Given the description of an element on the screen output the (x, y) to click on. 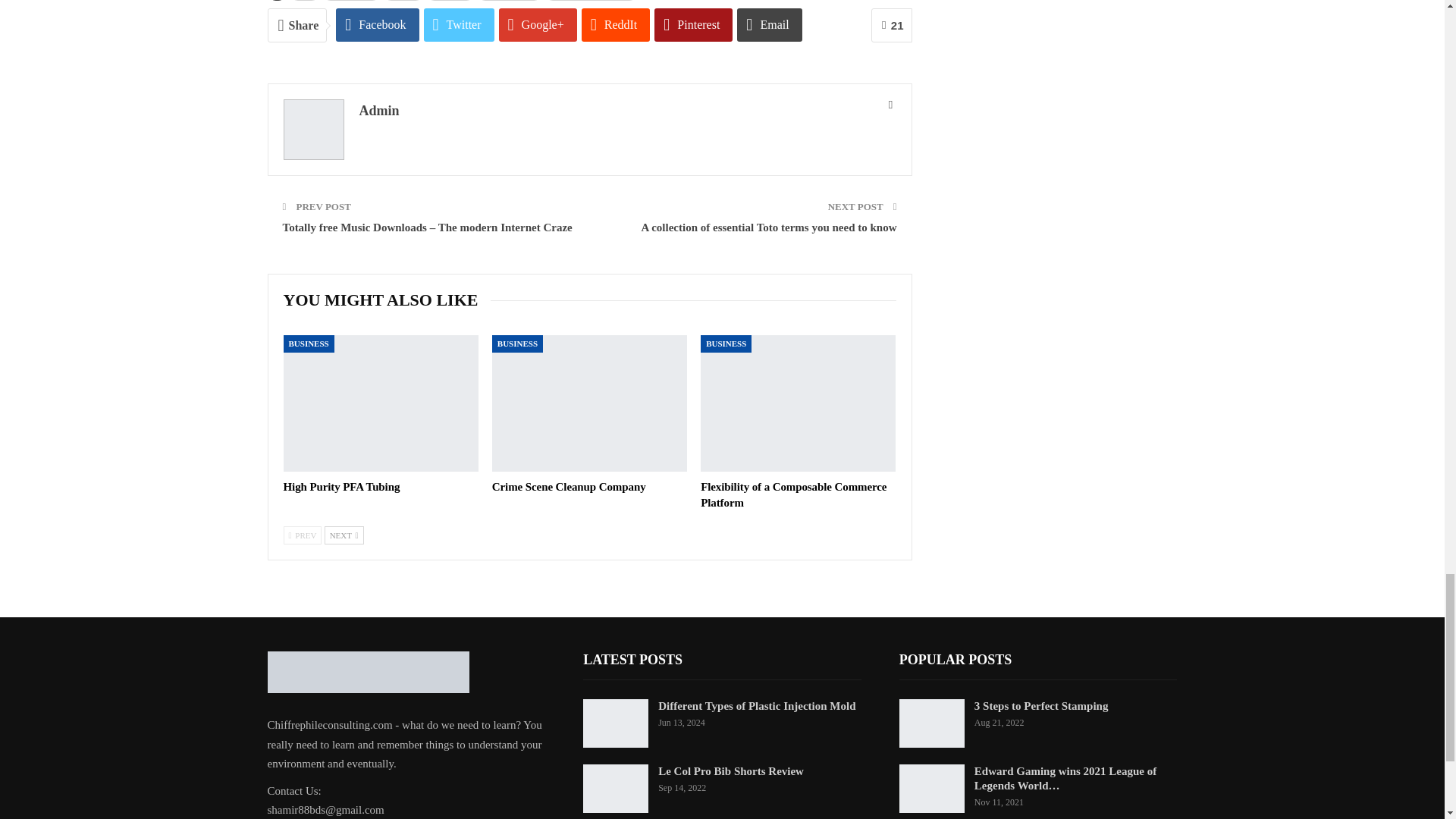
Crime Scene Cleanup Company (589, 402)
Previous (302, 535)
Next (344, 535)
Flexibility of a Composable Commerce Platform (797, 402)
Crime Scene Cleanup Company (569, 486)
High Purity PFA Tubing (381, 402)
Flexibility of a Composable Commerce Platform (793, 494)
High Purity PFA Tubing (341, 486)
